Given the description of an element on the screen output the (x, y) to click on. 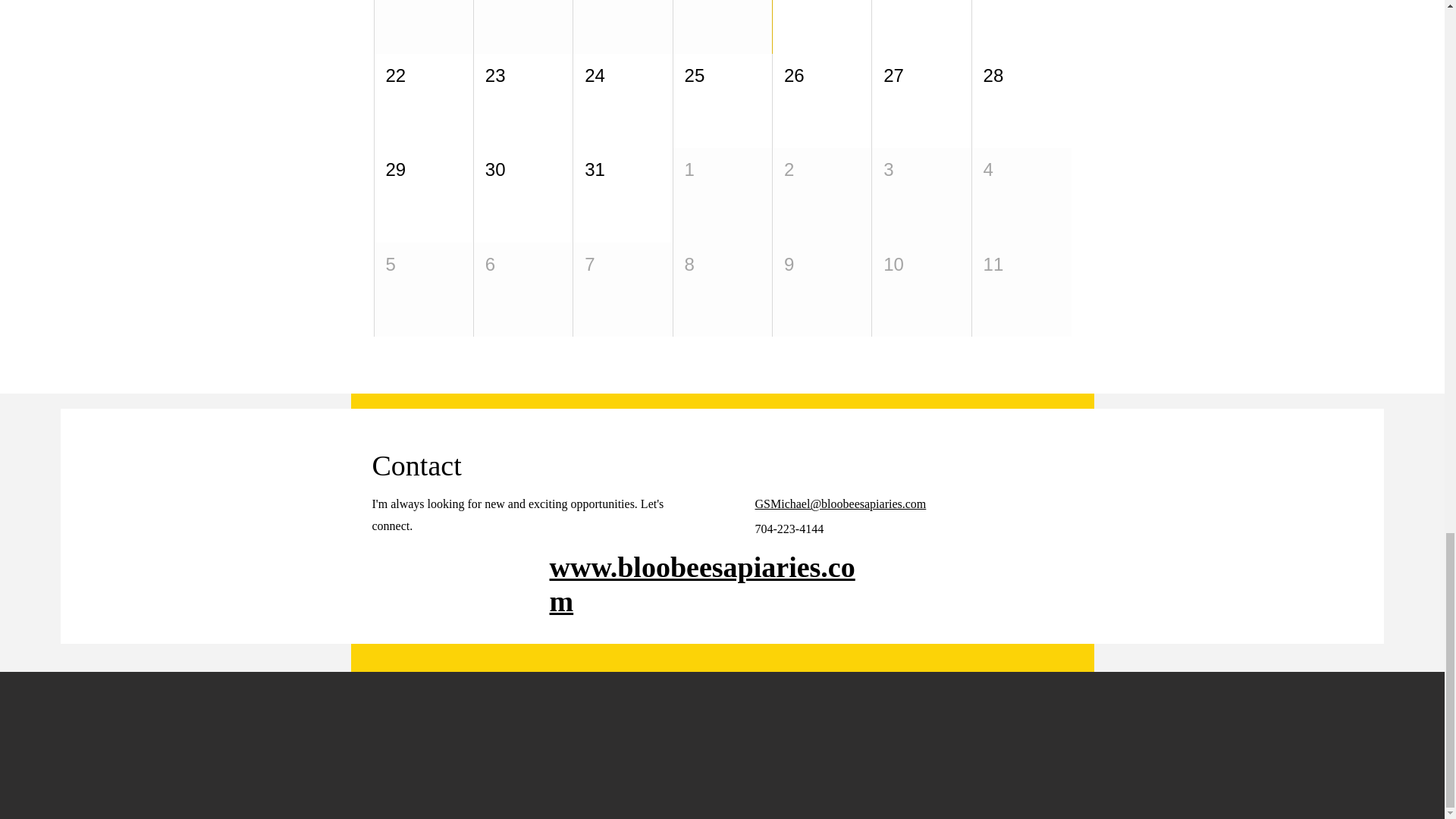
www.bloobeesapiaries.com (701, 584)
